Given the description of an element on the screen output the (x, y) to click on. 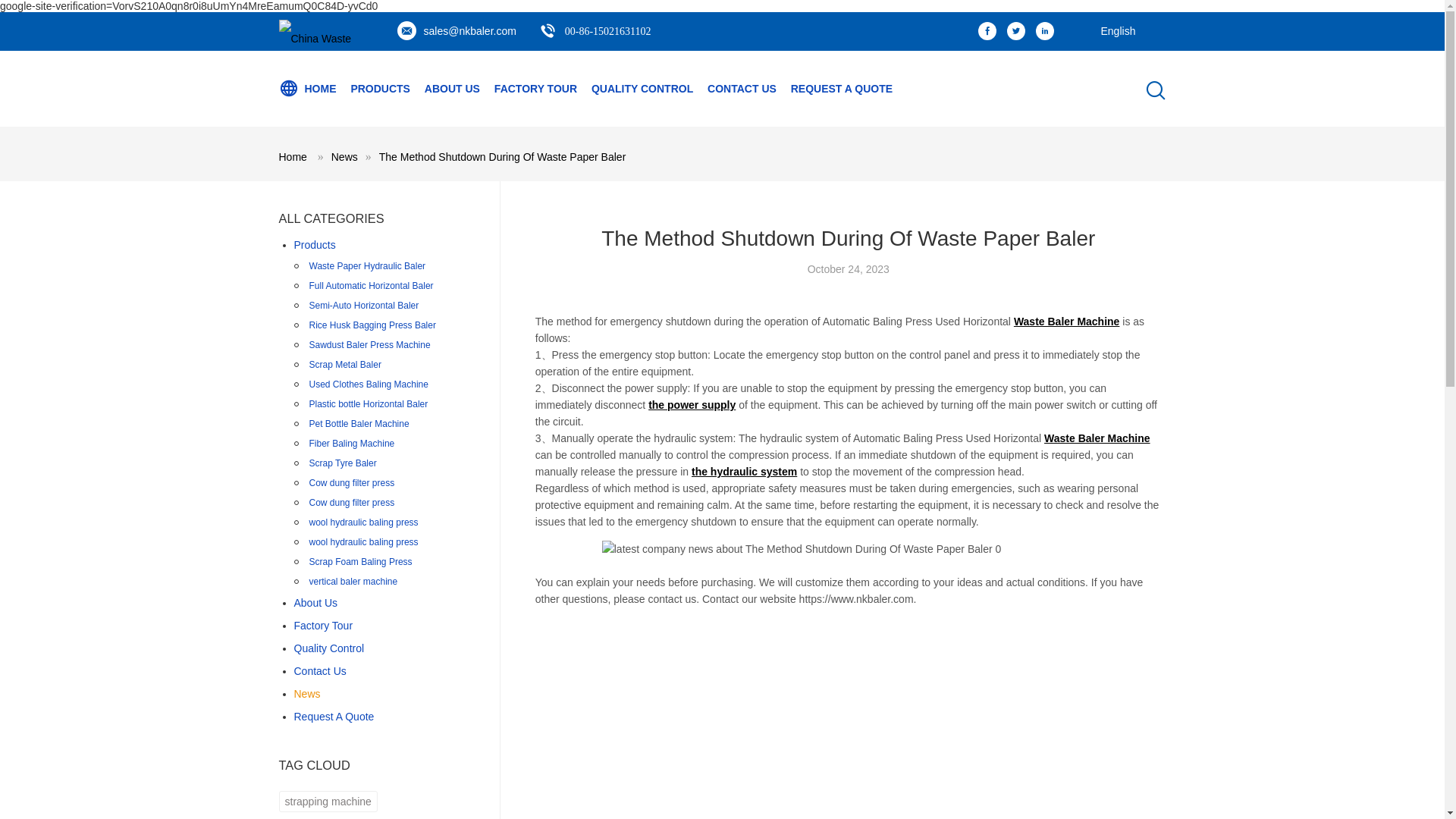
QUALITY CONTROL (642, 88)
Rice Husk Bagging Press Baler (371, 324)
News (344, 156)
CONTACT US (741, 88)
Waste Paper Hydraulic Baler (367, 266)
English (1109, 24)
Semi-Auto Horizontal Baler (363, 305)
Full Automatic Horizontal Baler (370, 285)
FACTORY TOUR (535, 88)
The Method Shutdown During Of Waste Paper Baler (502, 156)
